Given the description of an element on the screen output the (x, y) to click on. 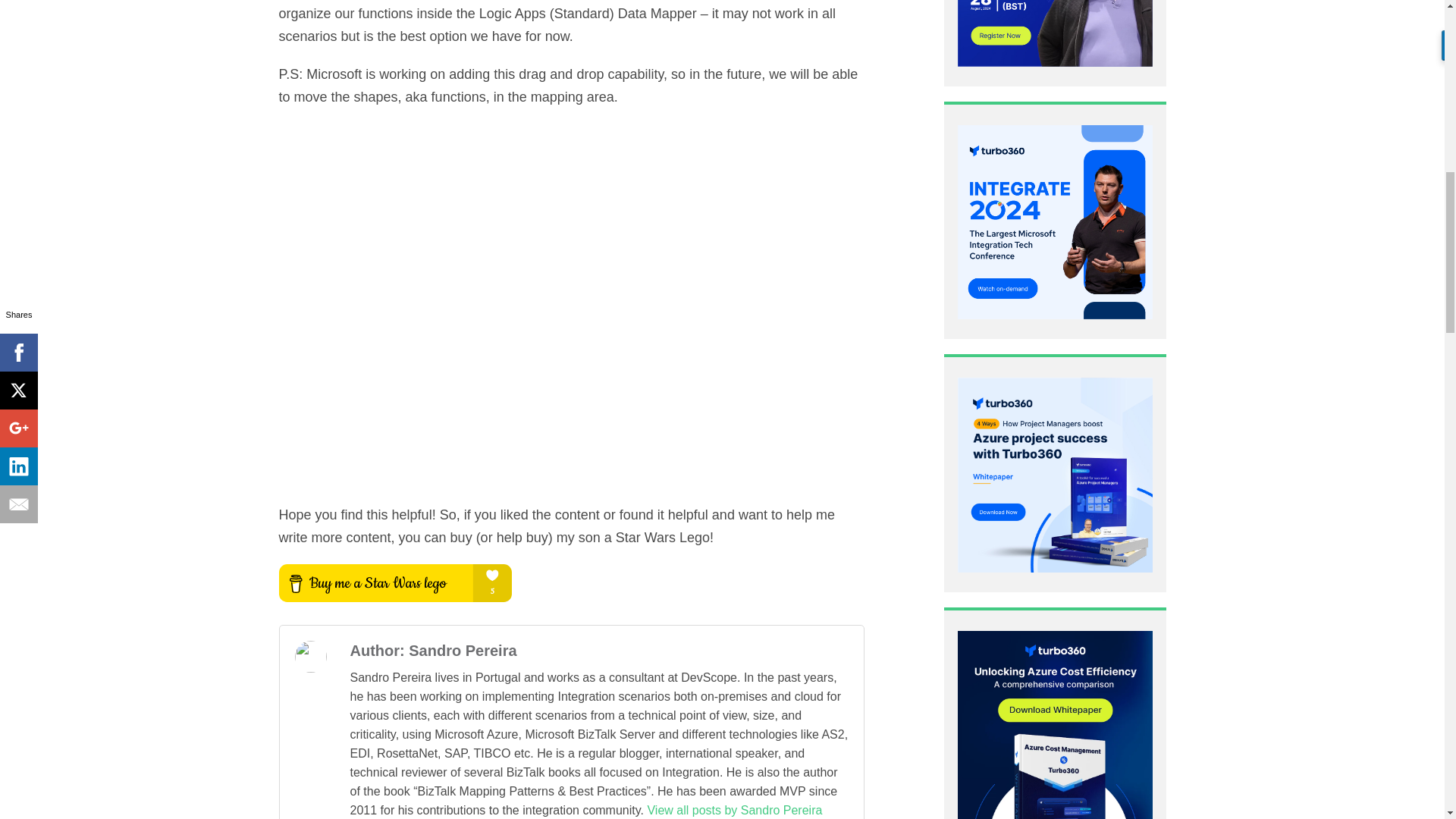
View all posts by Sandro Pereira (734, 809)
